Given the description of an element on the screen output the (x, y) to click on. 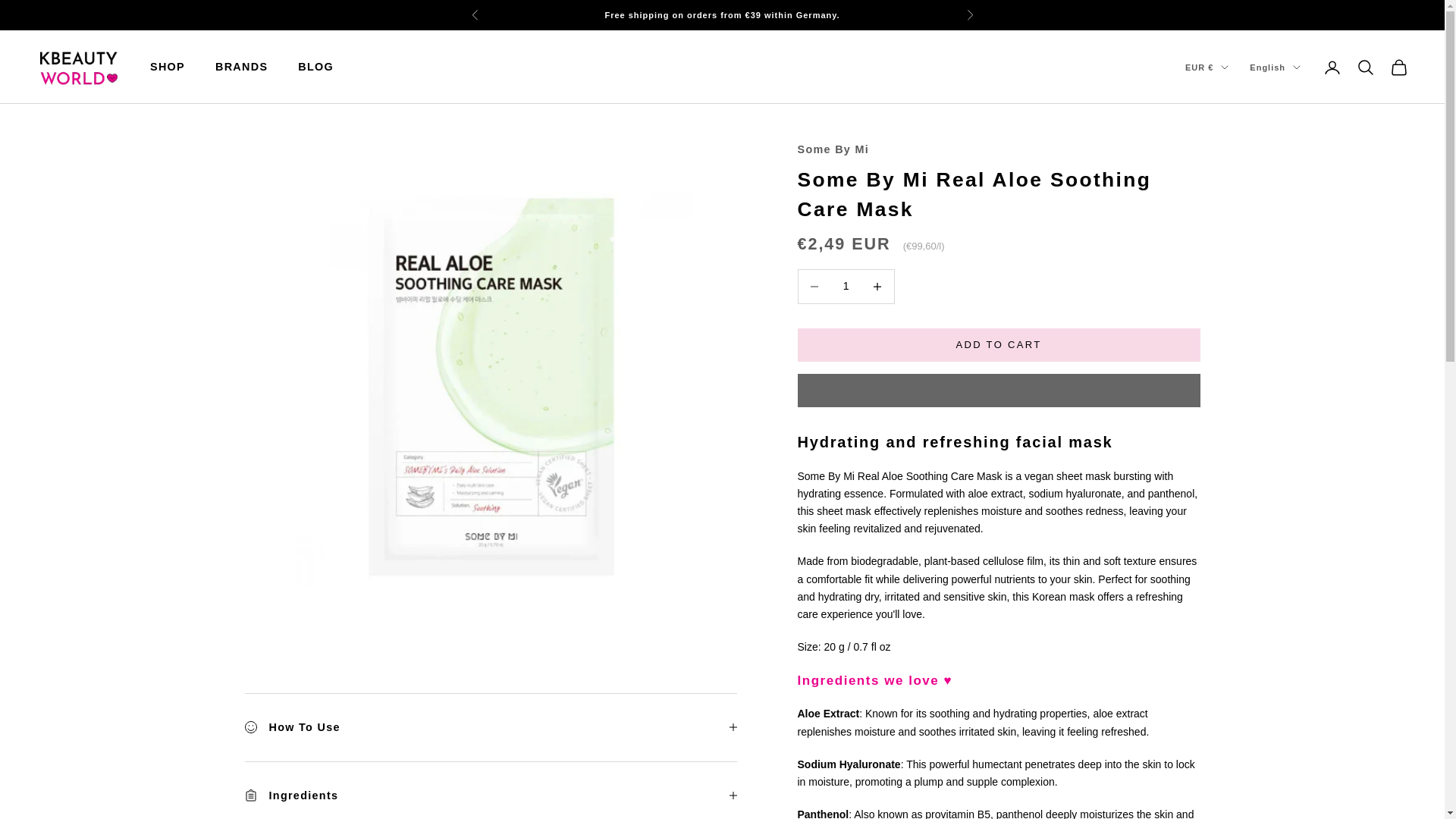
1 (846, 286)
K Beauty World (77, 67)
